Given the description of an element on the screen output the (x, y) to click on. 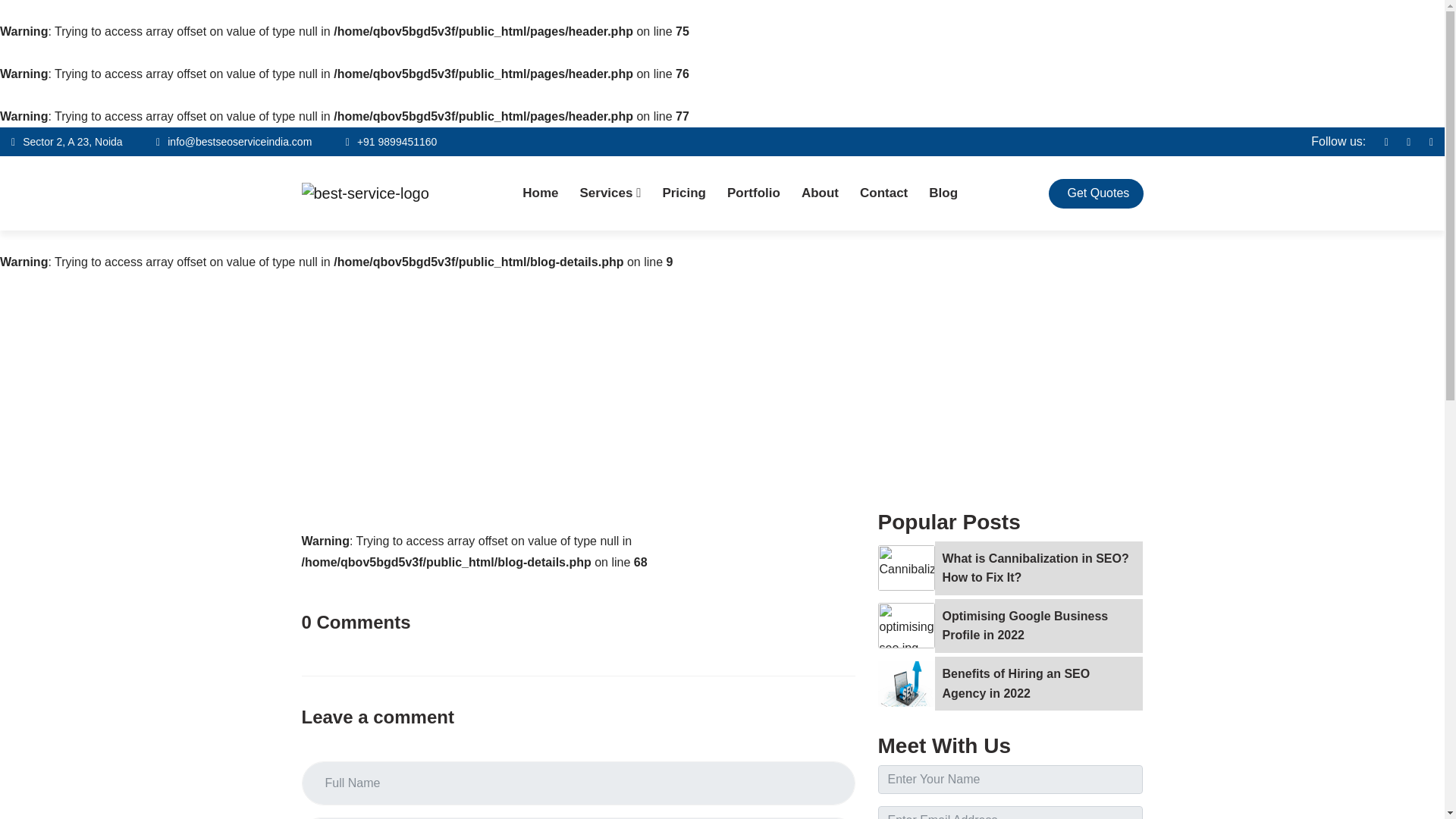
Optimising Google Business Profile in 2022 (1038, 625)
What is Cannibalization in SEO? How to Fix It? (1038, 568)
Get Quotes (1098, 192)
Benefits of Hiring an SEO Agency in 2022 (1038, 683)
Services (609, 193)
